Given the description of an element on the screen output the (x, y) to click on. 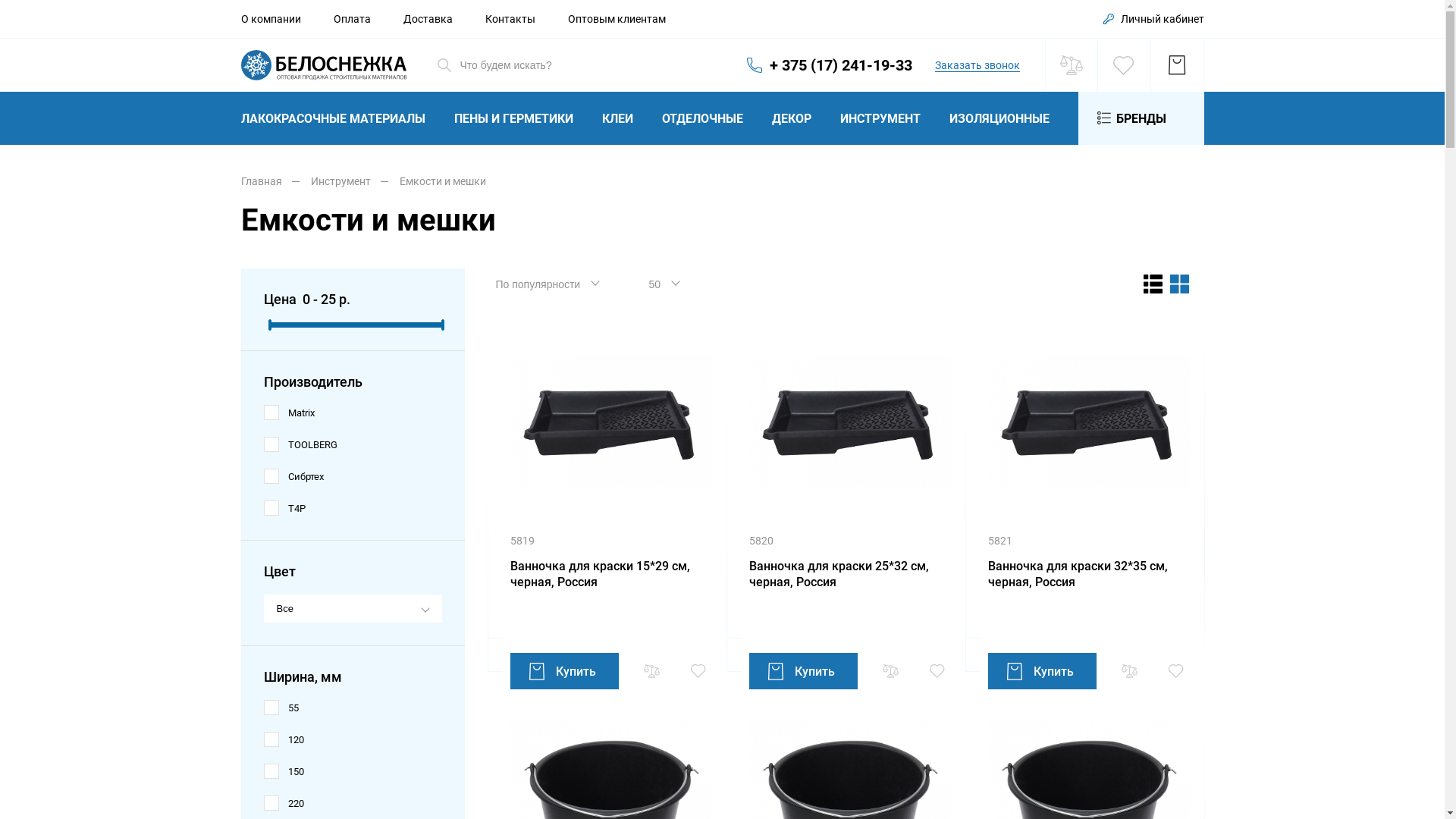
belosniezka.by Element type: hover (324, 65)
+ 375 (17) 241-19-33 Element type: text (828, 65)
